Given the description of an element on the screen output the (x, y) to click on. 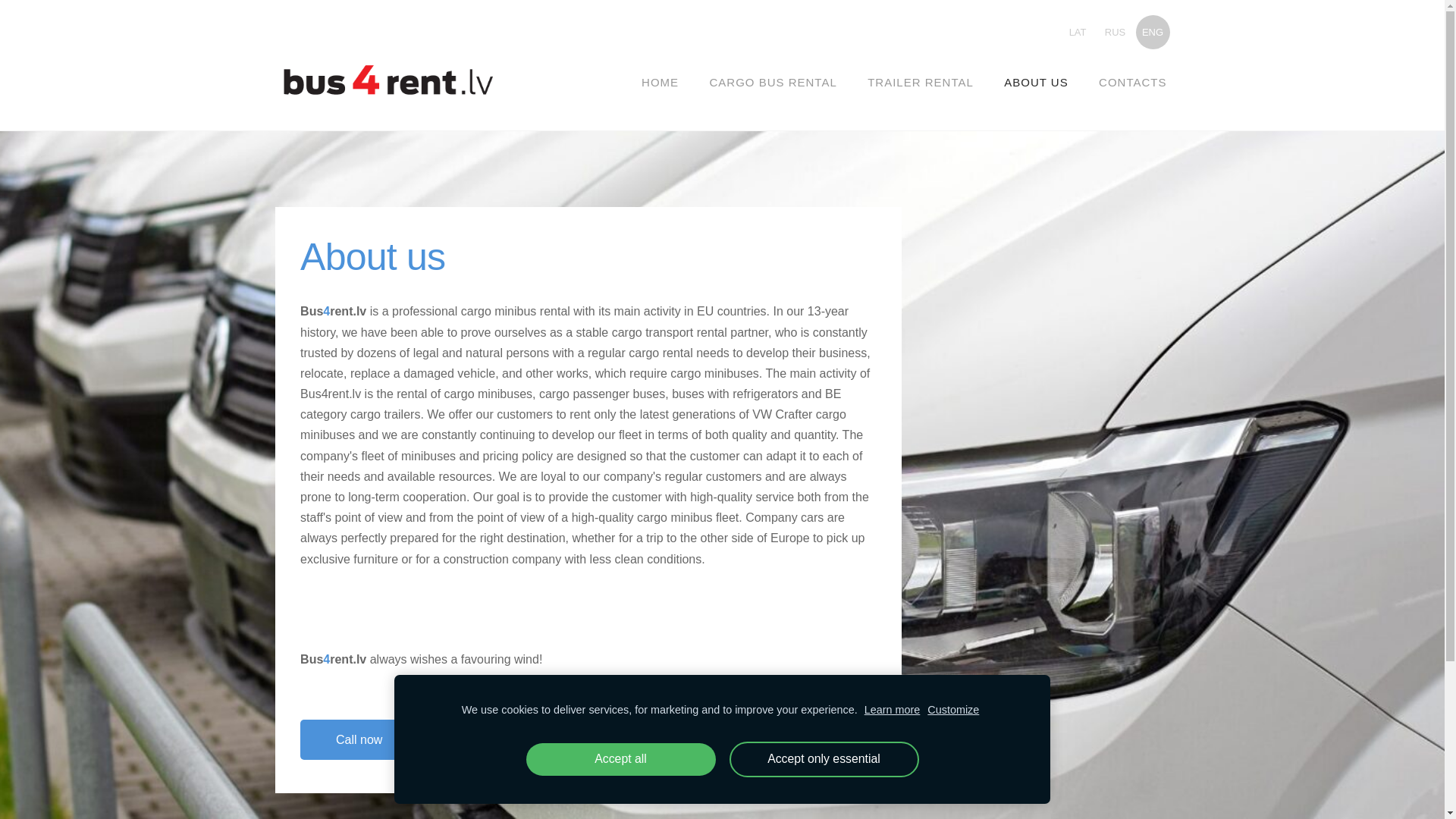
TRAILER RENTAL (920, 82)
Accept only essential (823, 759)
CARGO BUS RENTAL (772, 82)
Customize (952, 710)
Call now (358, 739)
CONTACTS (1131, 82)
HOME (659, 82)
RUS (1114, 32)
Rent a bus (488, 739)
ENG (1152, 32)
